Given the description of an element on the screen output the (x, y) to click on. 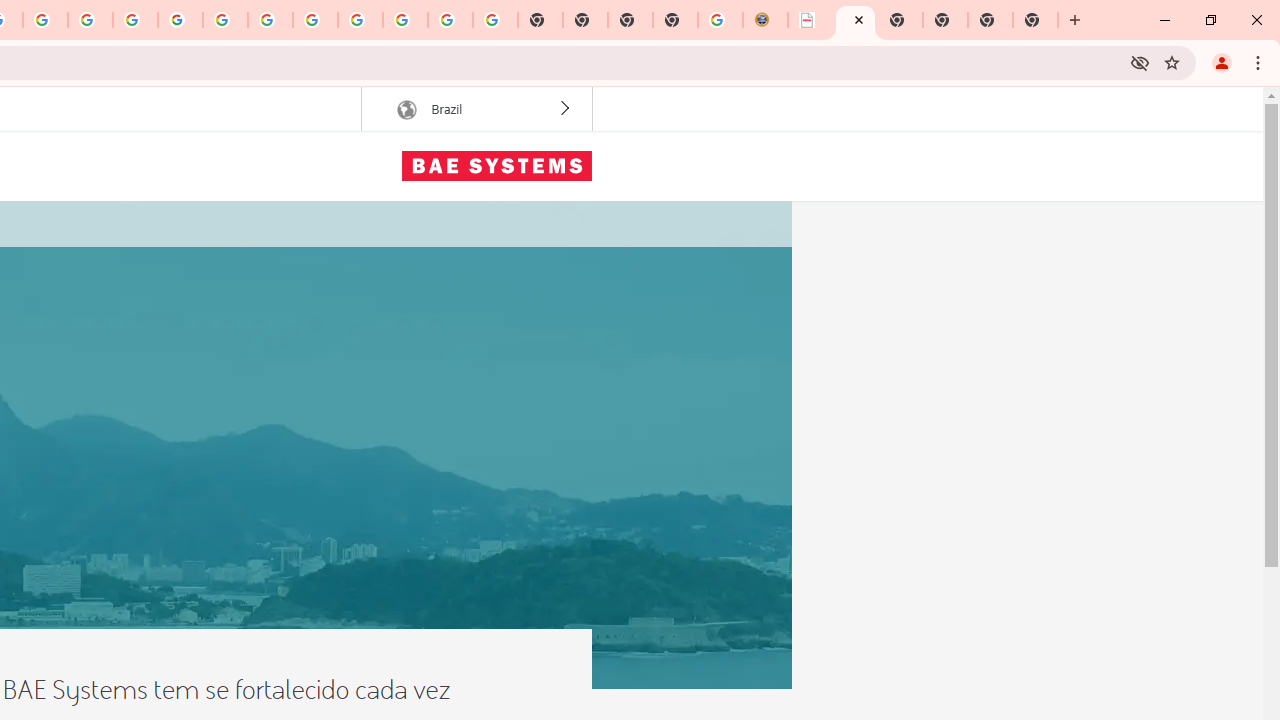
BAE Systems Brasil | BAE Systems (855, 20)
New Tab (674, 20)
Google Images (495, 20)
Privacy Help Center - Policies Help (89, 20)
AutomationID: region-selector-top (475, 109)
Privacy Help Center - Policies Help (45, 20)
